Given the description of an element on the screen output the (x, y) to click on. 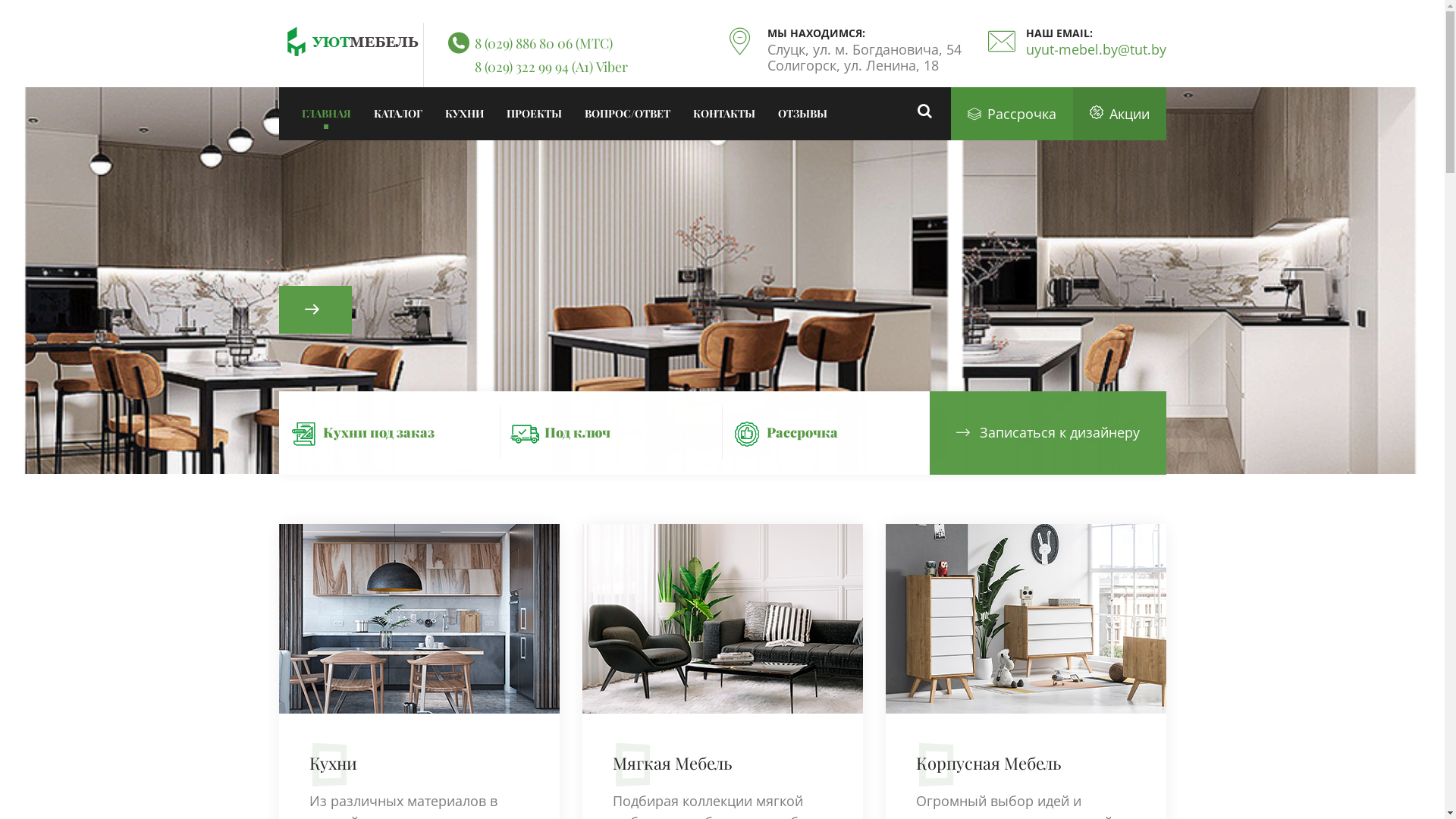
uyut-mebel.by@tut.by Element type: text (1095, 49)
